Given the description of an element on the screen output the (x, y) to click on. 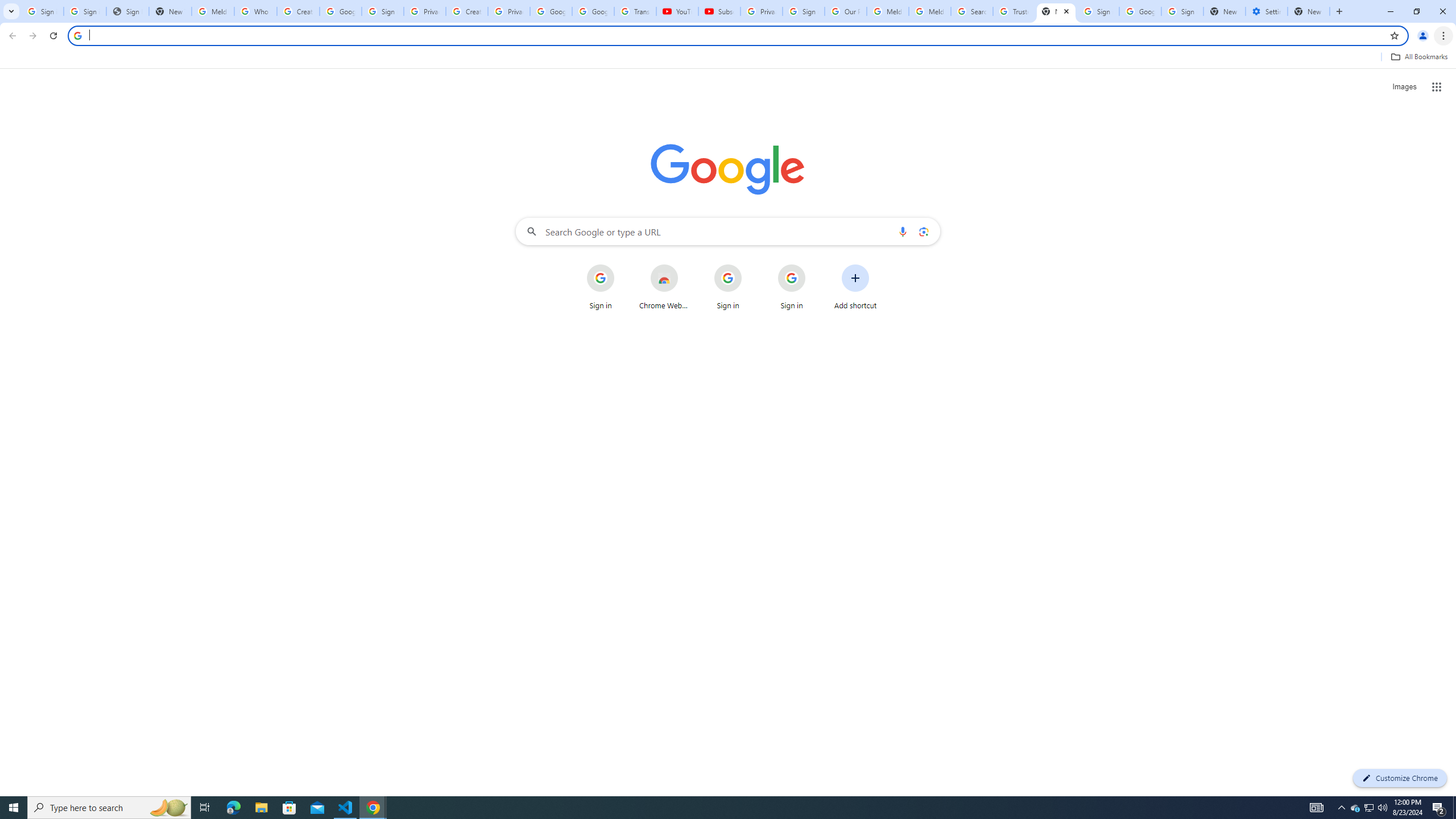
YouTube (676, 11)
Add shortcut (855, 287)
Sign in - Google Accounts (85, 11)
All Bookmarks (1418, 56)
Google Cybersecurity Innovations - Google Safety Center (1139, 11)
Sign in - Google Accounts (1097, 11)
Sign in - Google Accounts (1182, 11)
